Given the description of an element on the screen output the (x, y) to click on. 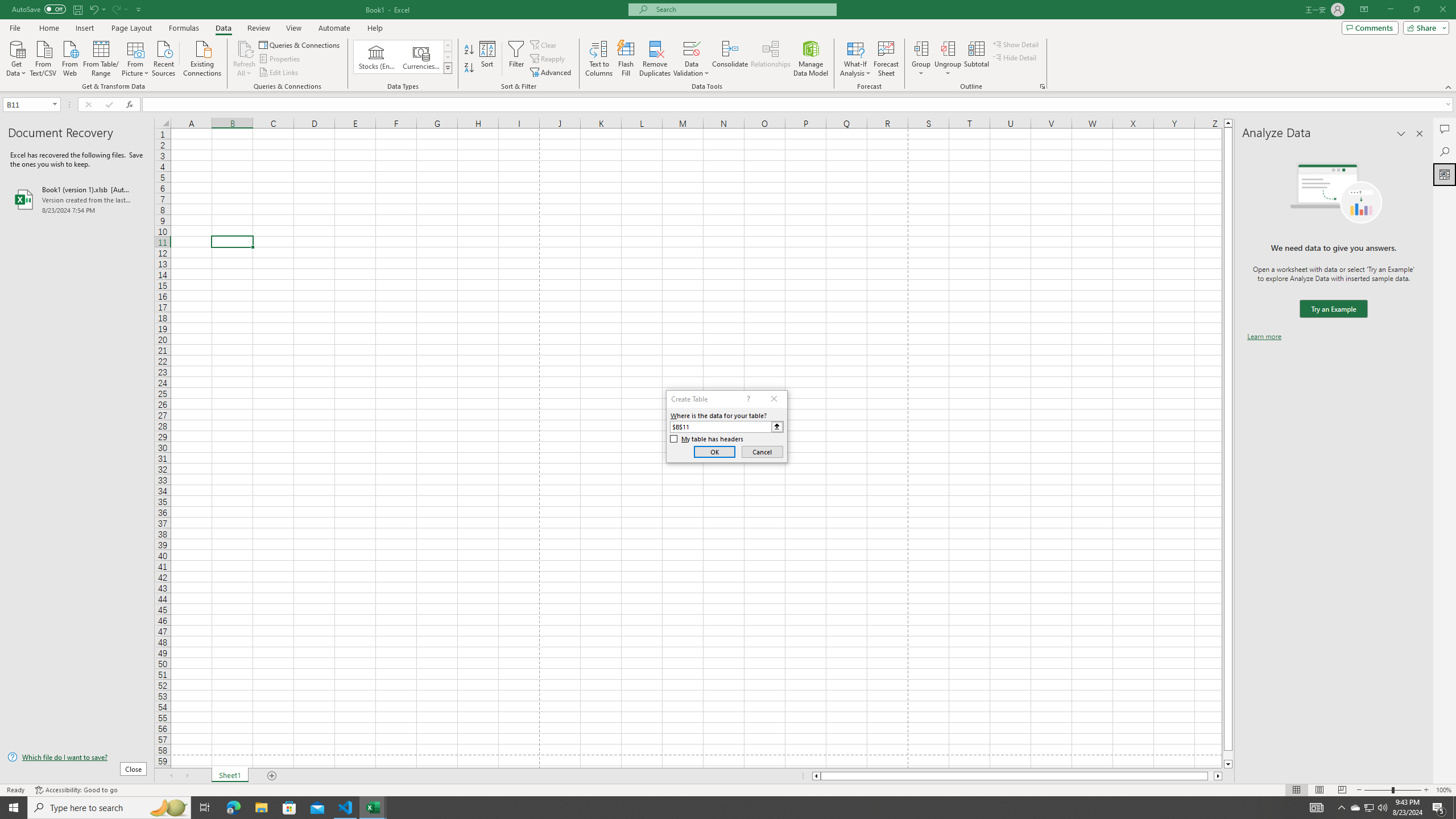
Row up (448, 45)
Class: MsoCommandBar (728, 45)
Remove Duplicates (654, 58)
